Given the description of an element on the screen output the (x, y) to click on. 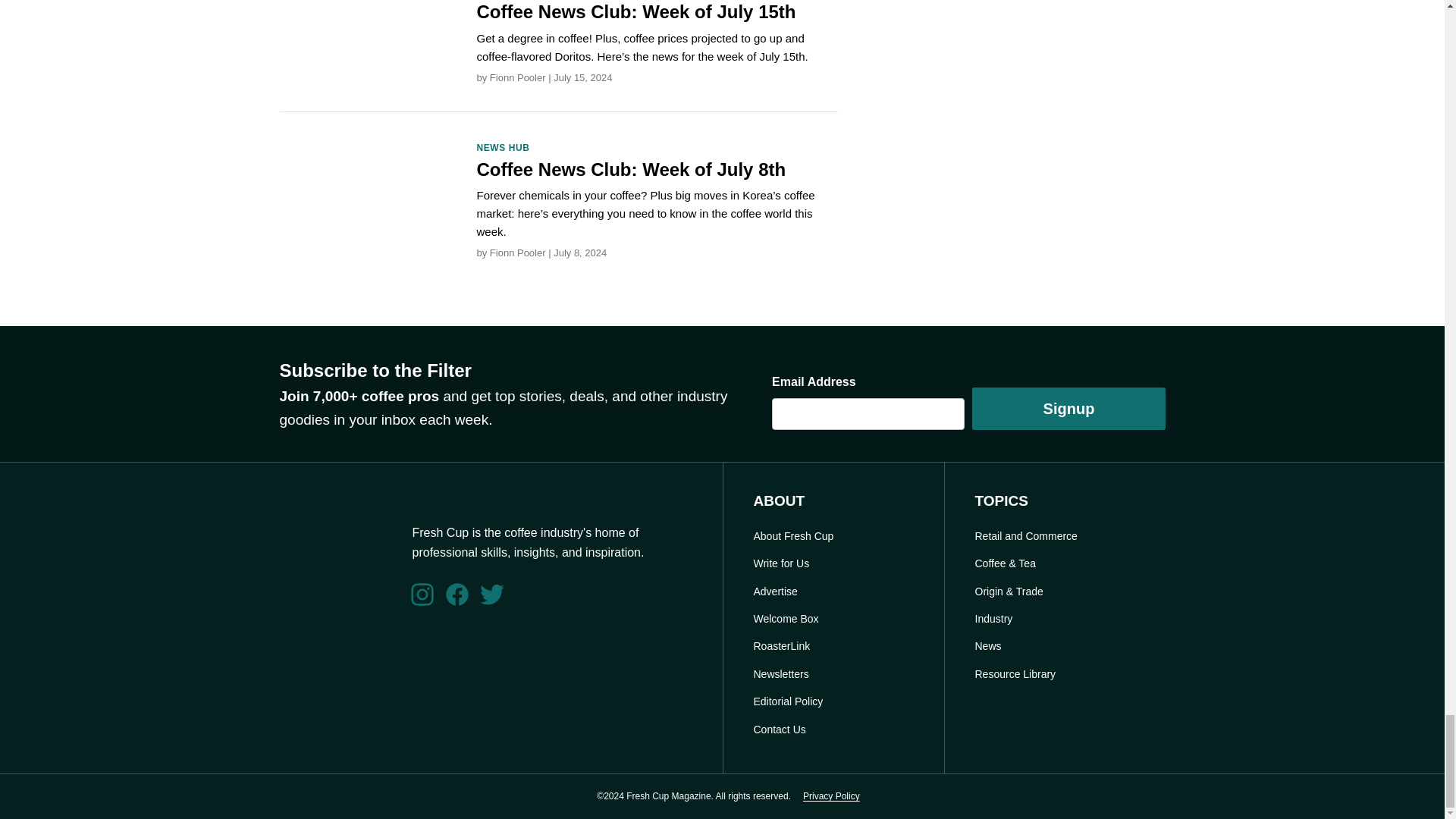
Signup (1068, 408)
